Given the description of an element on the screen output the (x, y) to click on. 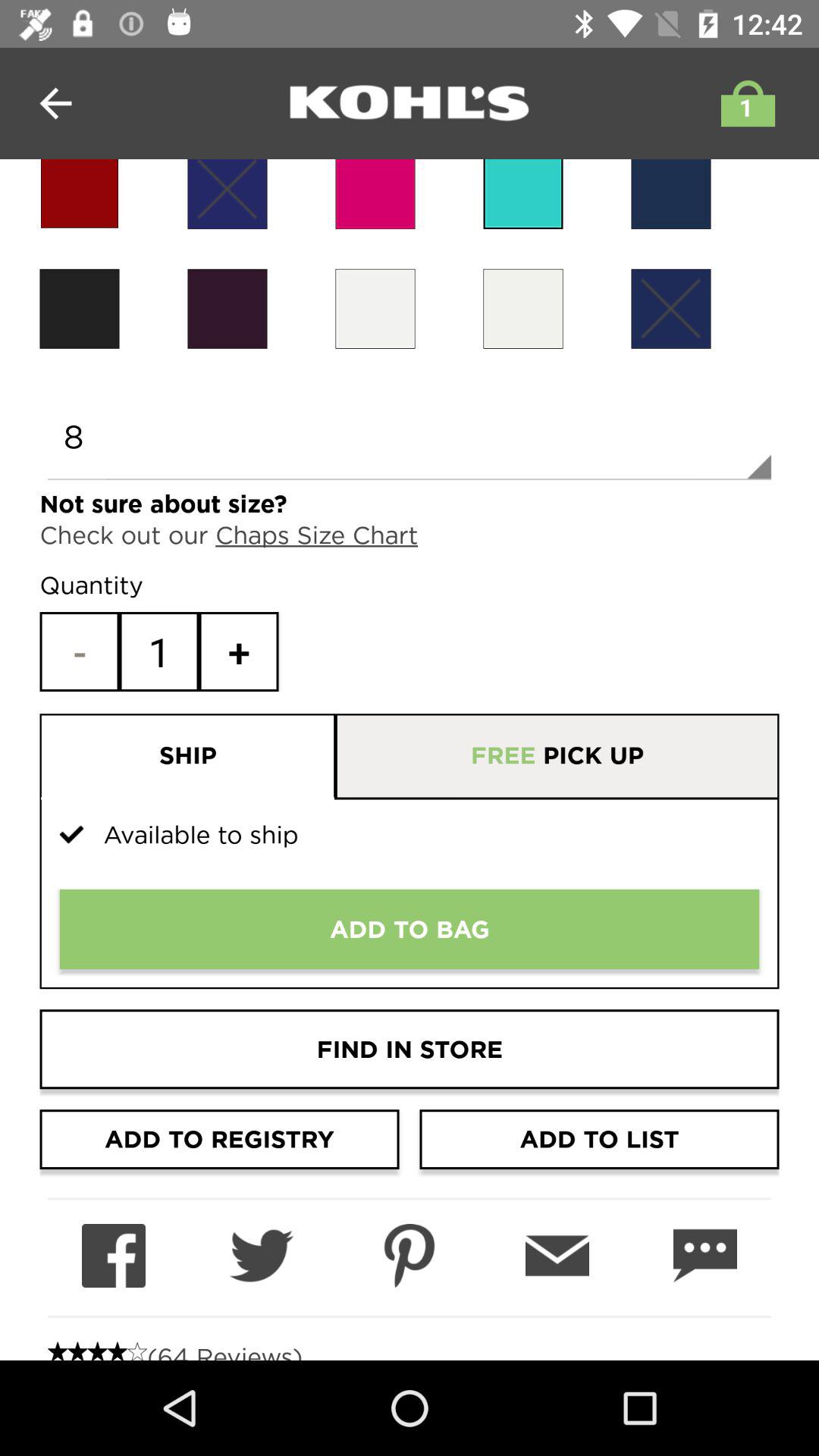
select brown color (227, 308)
